Given the description of an element on the screen output the (x, y) to click on. 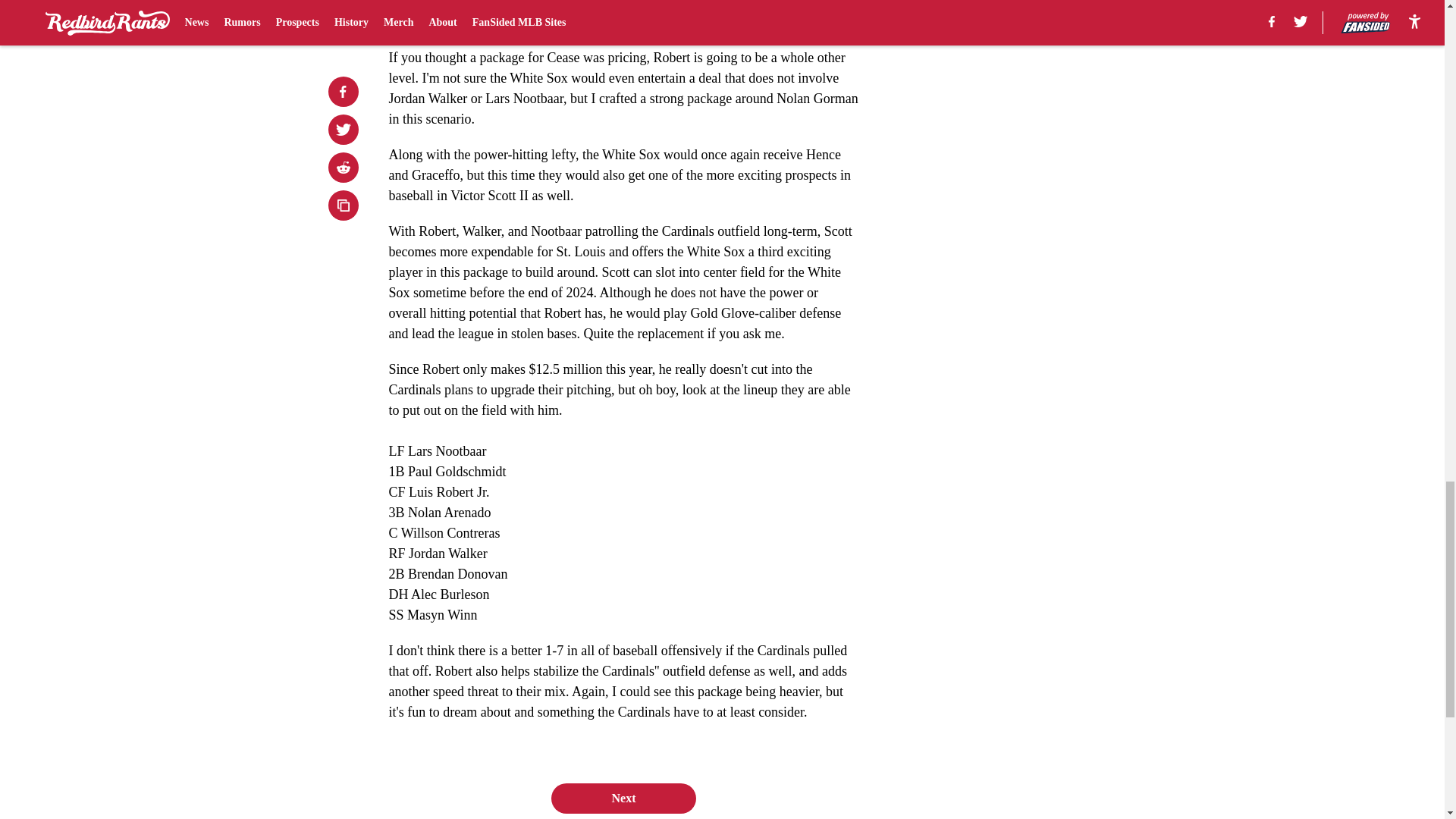
Next (622, 798)
